Given the description of an element on the screen output the (x, y) to click on. 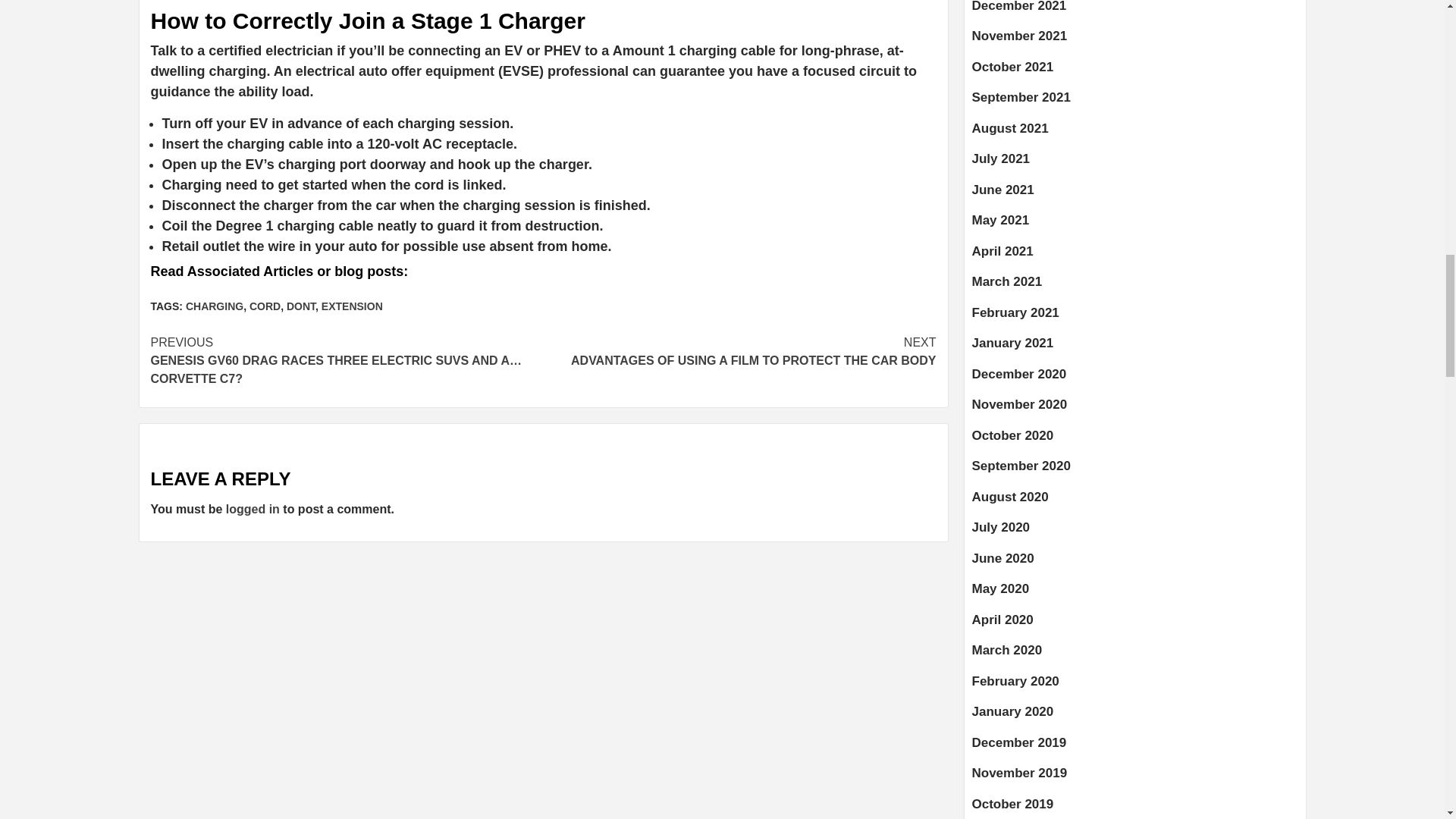
logged in (252, 508)
DONT (300, 306)
EXTENSION (351, 306)
CHARGING (214, 306)
CORD (264, 306)
